Given the description of an element on the screen output the (x, y) to click on. 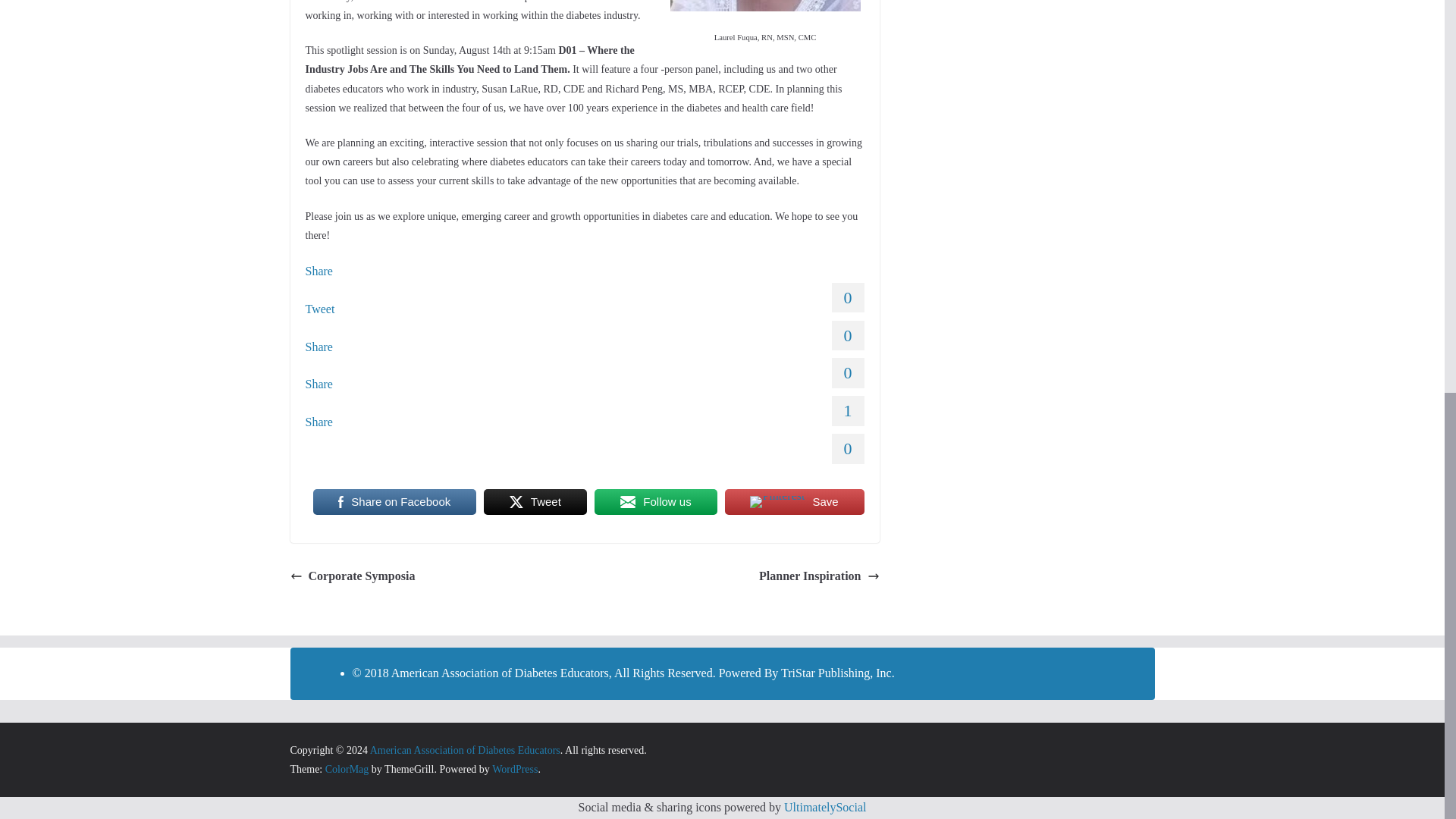
ColorMag (346, 768)
WordPress (514, 768)
American Association of Diabetes Educators (464, 749)
